Given the description of an element on the screen output the (x, y) to click on. 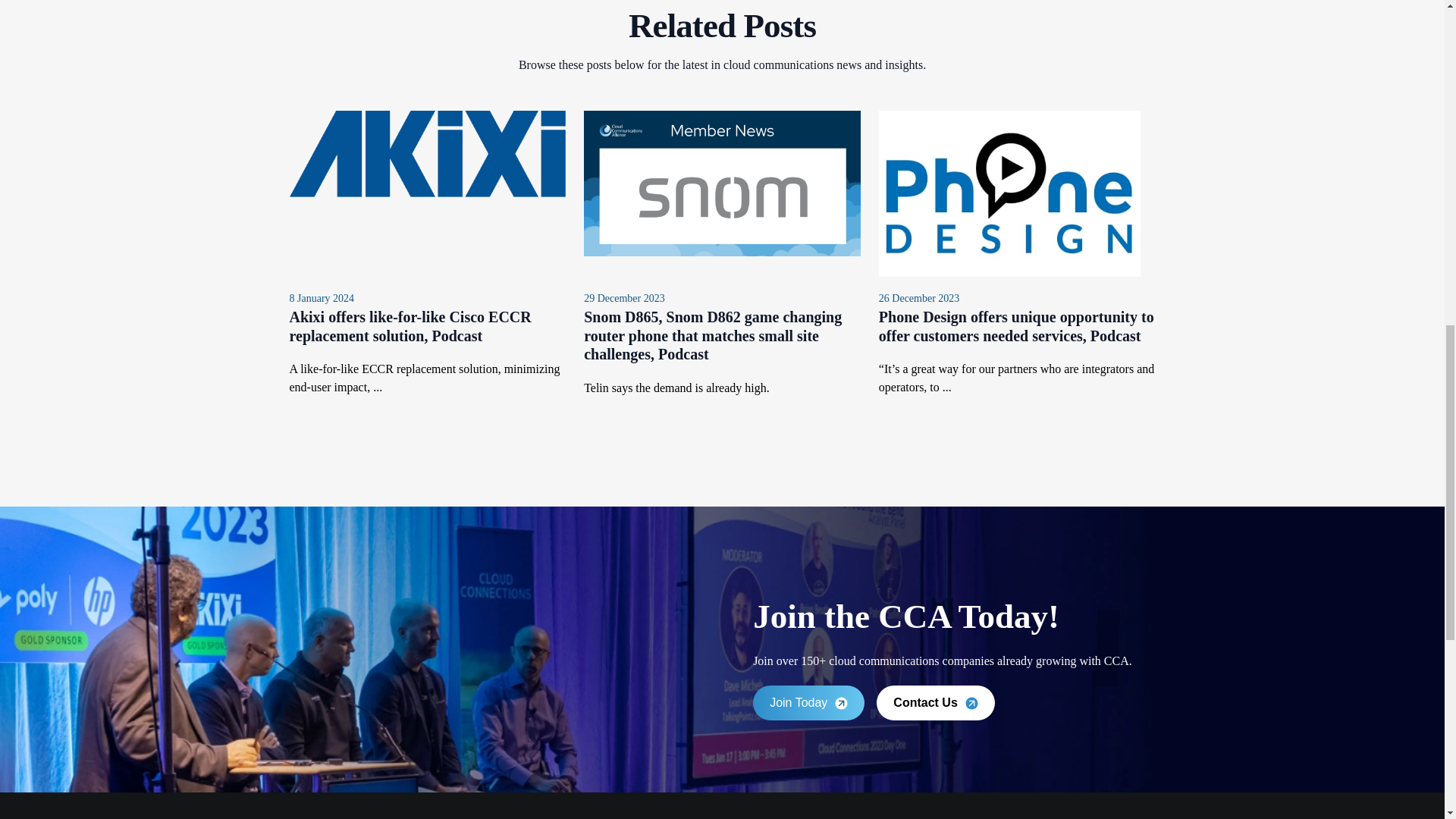
Join Today (808, 703)
Contact Us (935, 703)
